Given the description of an element on the screen output the (x, y) to click on. 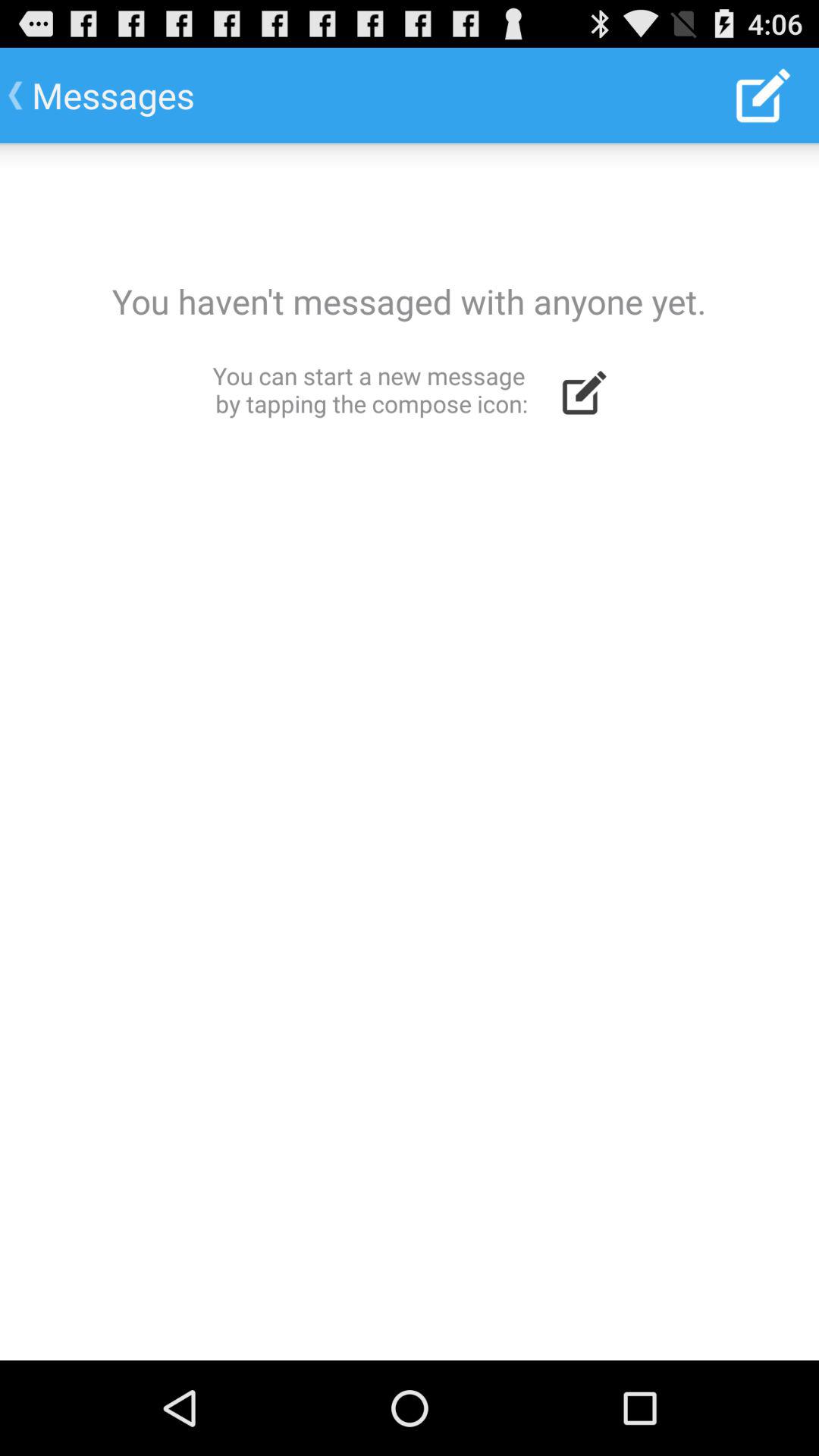
message window (409, 751)
